Given the description of an element on the screen output the (x, y) to click on. 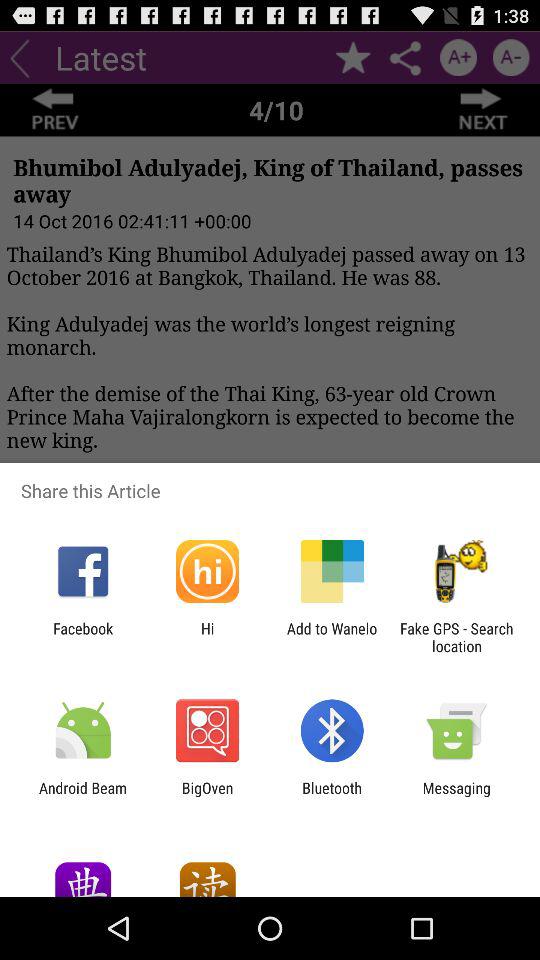
scroll to facebook app (83, 637)
